Given the description of an element on the screen output the (x, y) to click on. 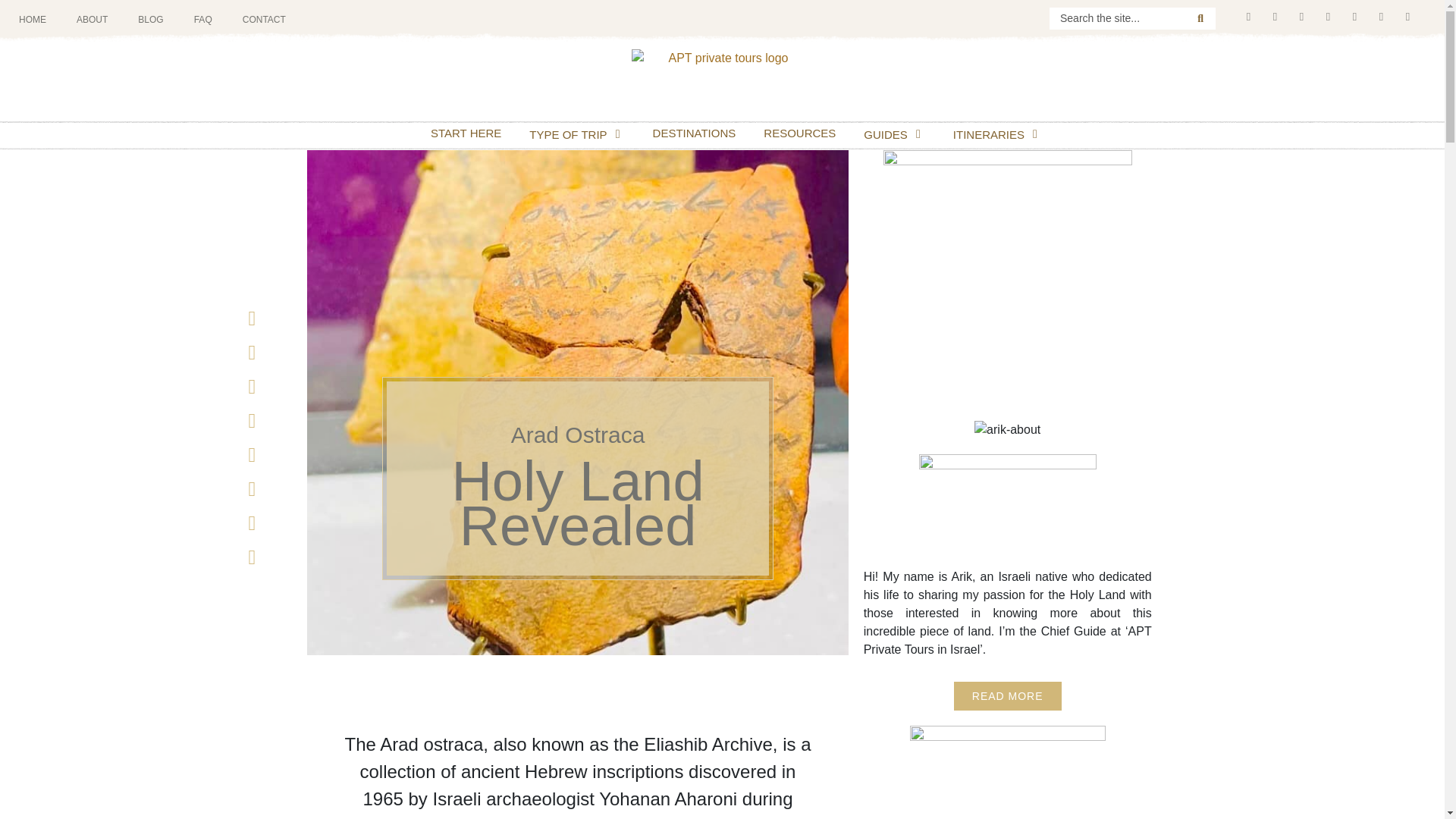
TYPE OF TRIP (568, 134)
arik-about (1007, 429)
START HERE (465, 132)
ABOUT (91, 19)
FAQ (203, 19)
CONTACT (264, 19)
BLOG (149, 19)
HOME (32, 19)
